Given the description of an element on the screen output the (x, y) to click on. 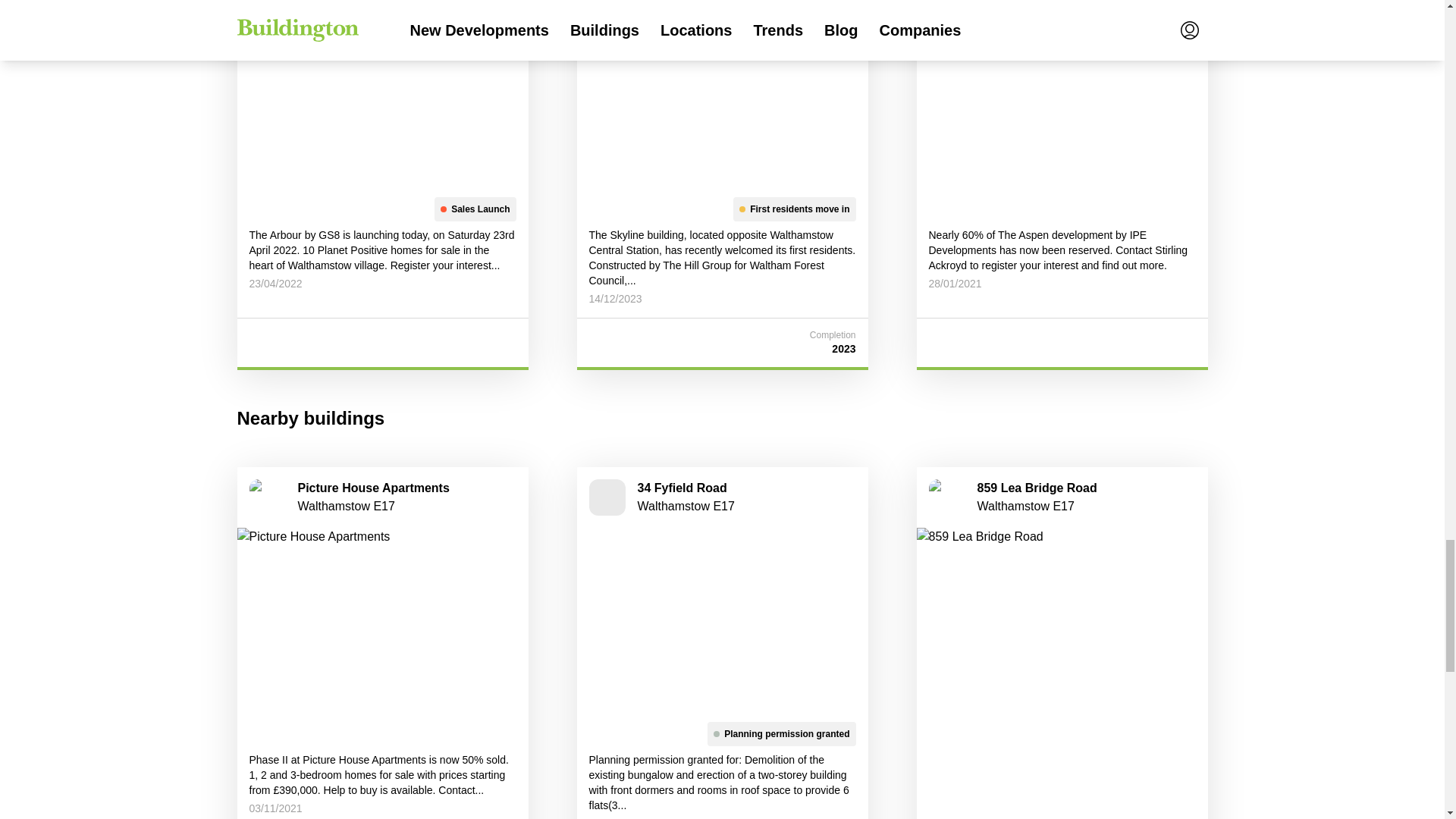
The Aspen (1061, 94)
Picture House Apartments (381, 618)
Skyline (721, 94)
The Arbour (381, 94)
859 Lea Bridge Road (1061, 618)
